Given the description of an element on the screen output the (x, y) to click on. 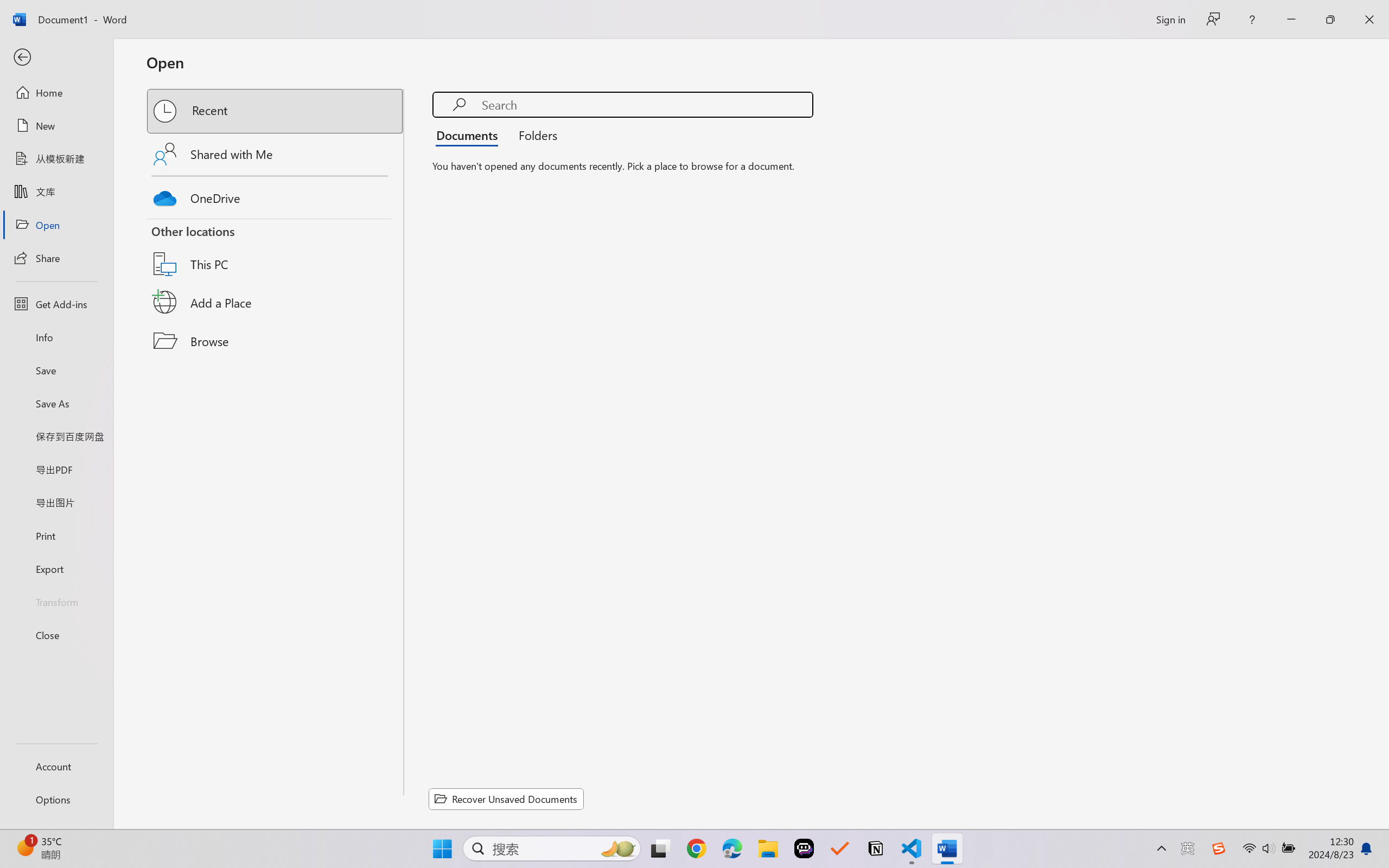
New (56, 125)
Recent (275, 110)
Browse (275, 340)
Transform (56, 601)
Back (56, 57)
